Given the description of an element on the screen output the (x, y) to click on. 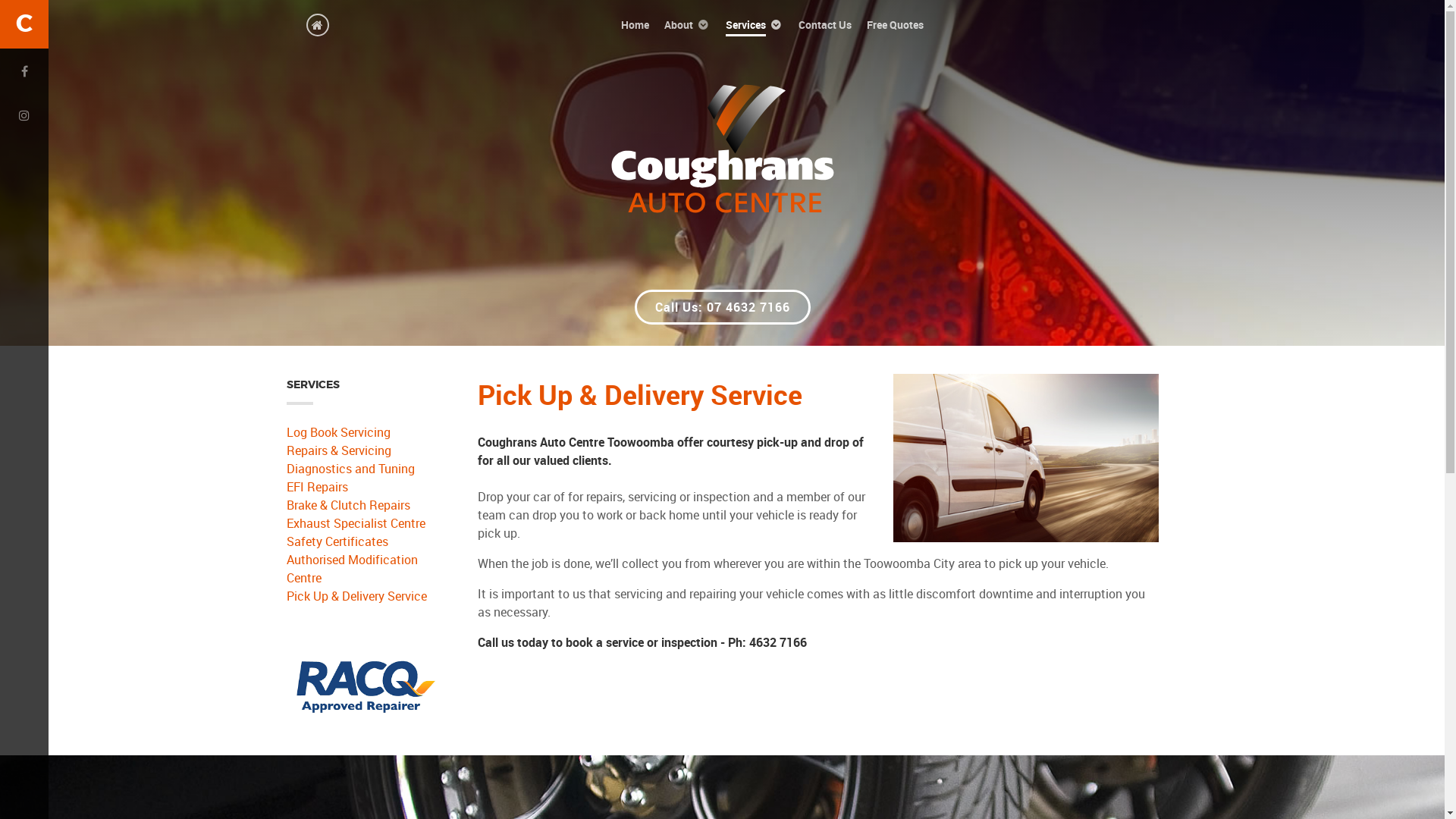
About Element type: text (687, 23)
Pick Up & Delivery Service Element type: text (362, 595)
Free Quotes Element type: text (894, 24)
Home Element type: text (635, 24)
Contact Us Element type: text (824, 24)
Authorised Modification Centre Element type: text (362, 568)
Exhaust Specialist Centre Element type: text (362, 523)
Repairs & Servicing Element type: text (362, 450)
C Element type: text (24, 24)
EFI Repairs Element type: text (362, 486)
Safety Certificates Element type: text (362, 541)
Call Us: 07 4632 7166 Element type: text (721, 306)
Log Book Servicing Element type: text (362, 432)
Services Element type: text (754, 23)
Brake & Clutch Repairs Element type: text (362, 504)
Diagnostics and Tuning Element type: text (362, 468)
